Given the description of an element on the screen output the (x, y) to click on. 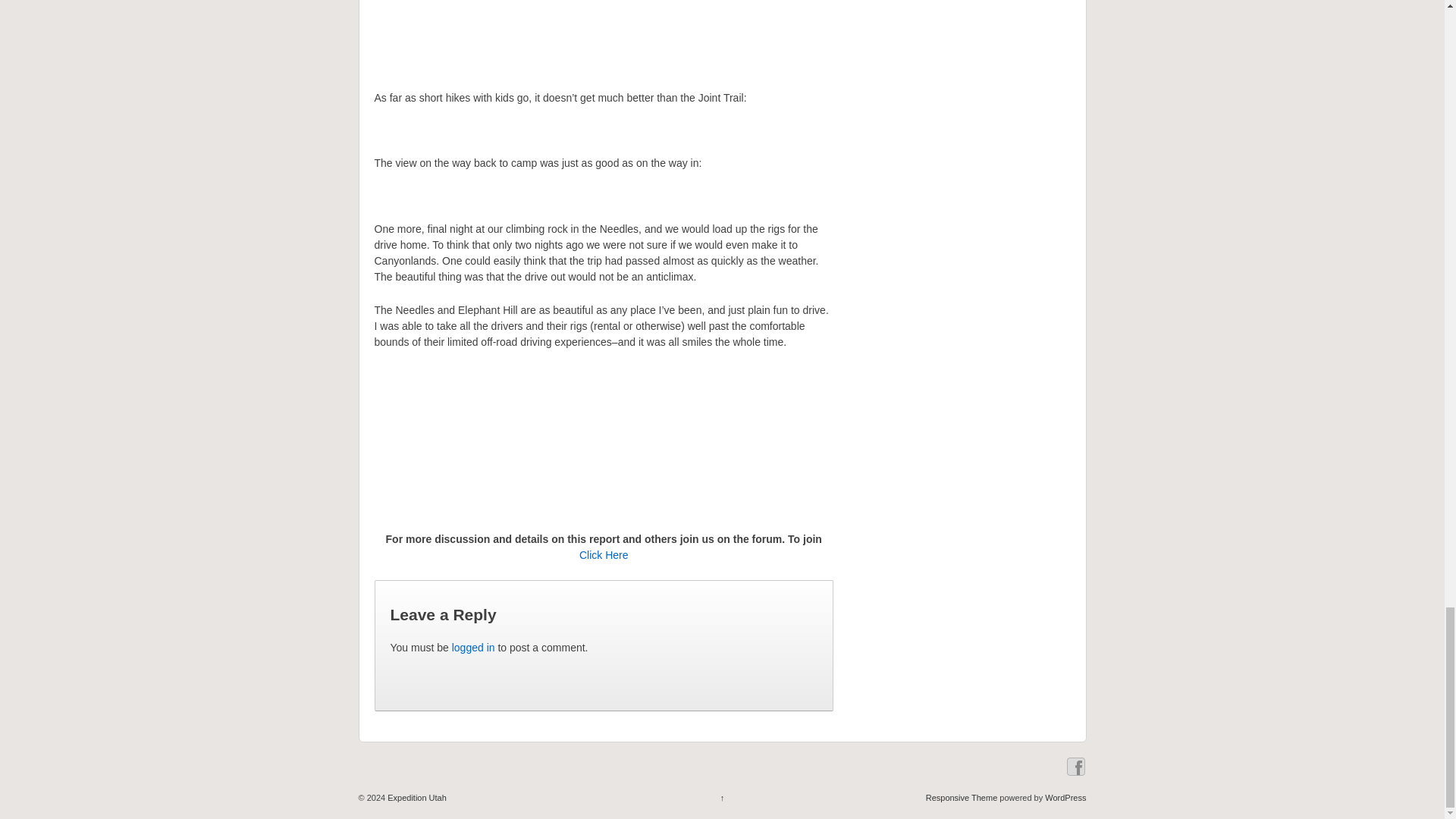
Responsive Theme (961, 797)
Expedition Utah (415, 797)
WordPress (1065, 797)
